Given the description of an element on the screen output the (x, y) to click on. 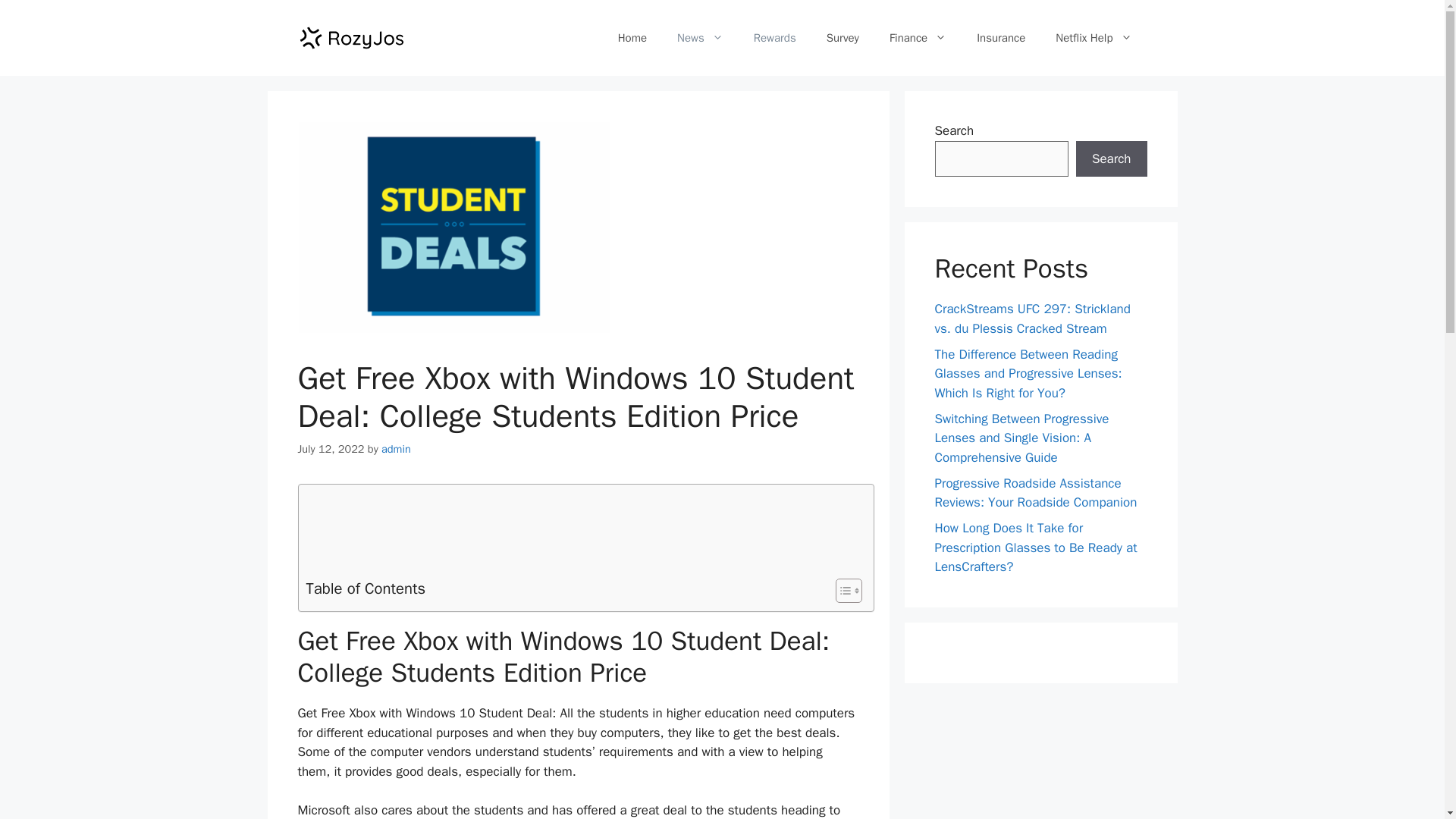
Insurance (1000, 37)
Advertisement (582, 531)
News (700, 37)
Netflix Help (1094, 37)
admin (395, 448)
Home (632, 37)
Survey (842, 37)
View all posts by admin (395, 448)
Finance (917, 37)
Rewards (774, 37)
